Given the description of an element on the screen output the (x, y) to click on. 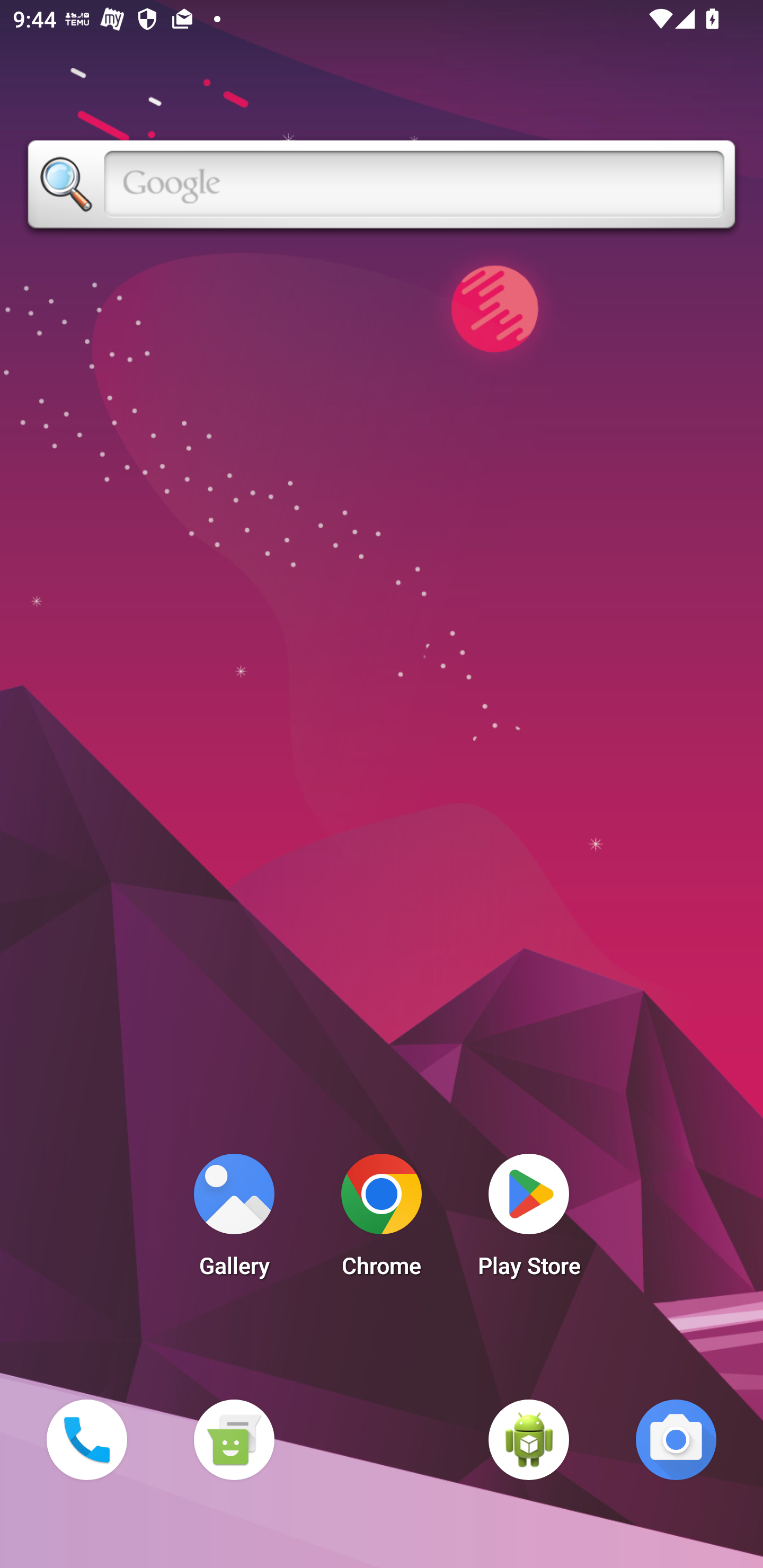
Gallery (233, 1220)
Chrome (381, 1220)
Play Store (528, 1220)
Phone (86, 1439)
Messaging (233, 1439)
WebView Browser Tester (528, 1439)
Camera (676, 1439)
